Given the description of an element on the screen output the (x, y) to click on. 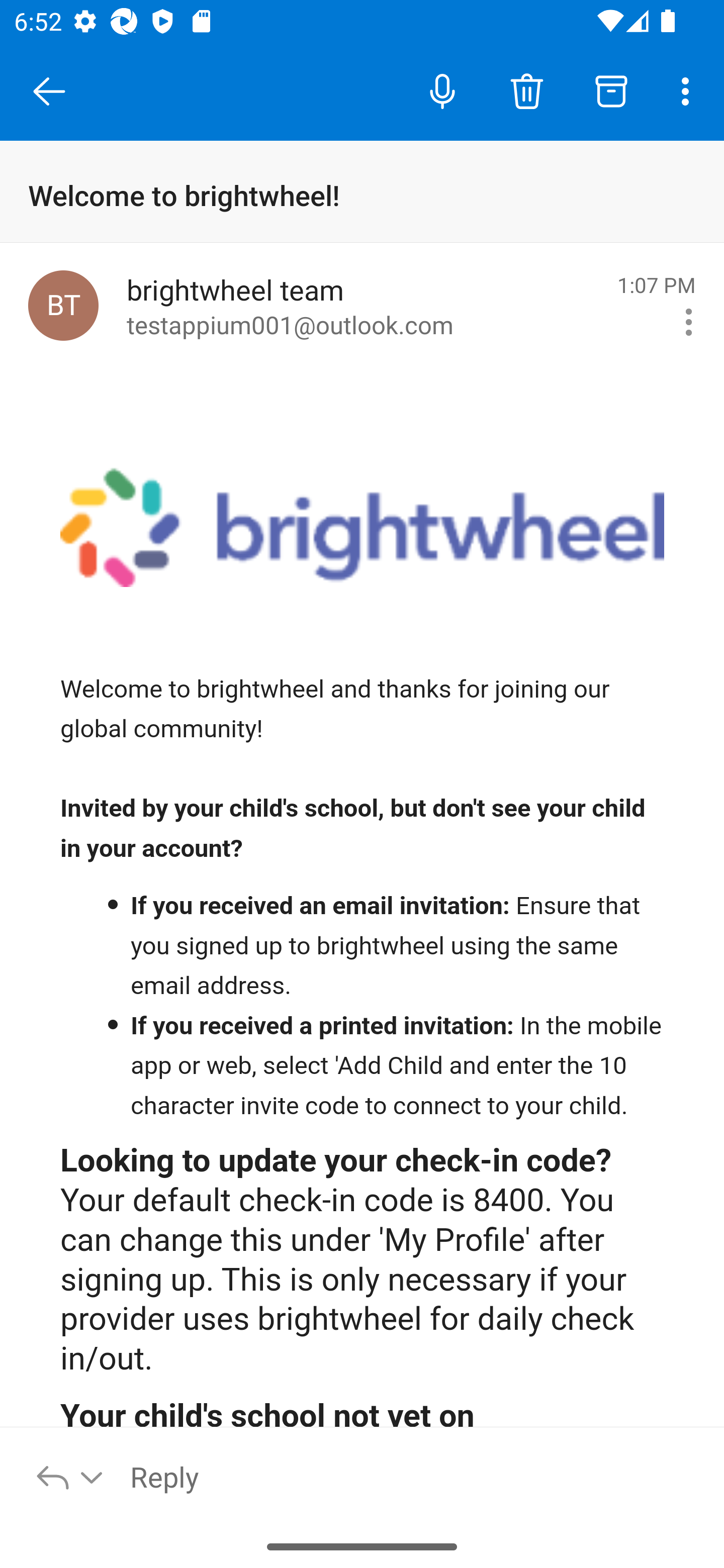
Close (49, 91)
Delete (526, 90)
Archive (611, 90)
More options (688, 90)
brightwheel team, welcome@mybrightwheel.com (63, 304)
brightwheel team
to testappium001@outlook.com (364, 305)
Message actions (688, 322)
brightwheel (362, 524)
Reply options (70, 1475)
Reply (416, 1475)
